Given the description of an element on the screen output the (x, y) to click on. 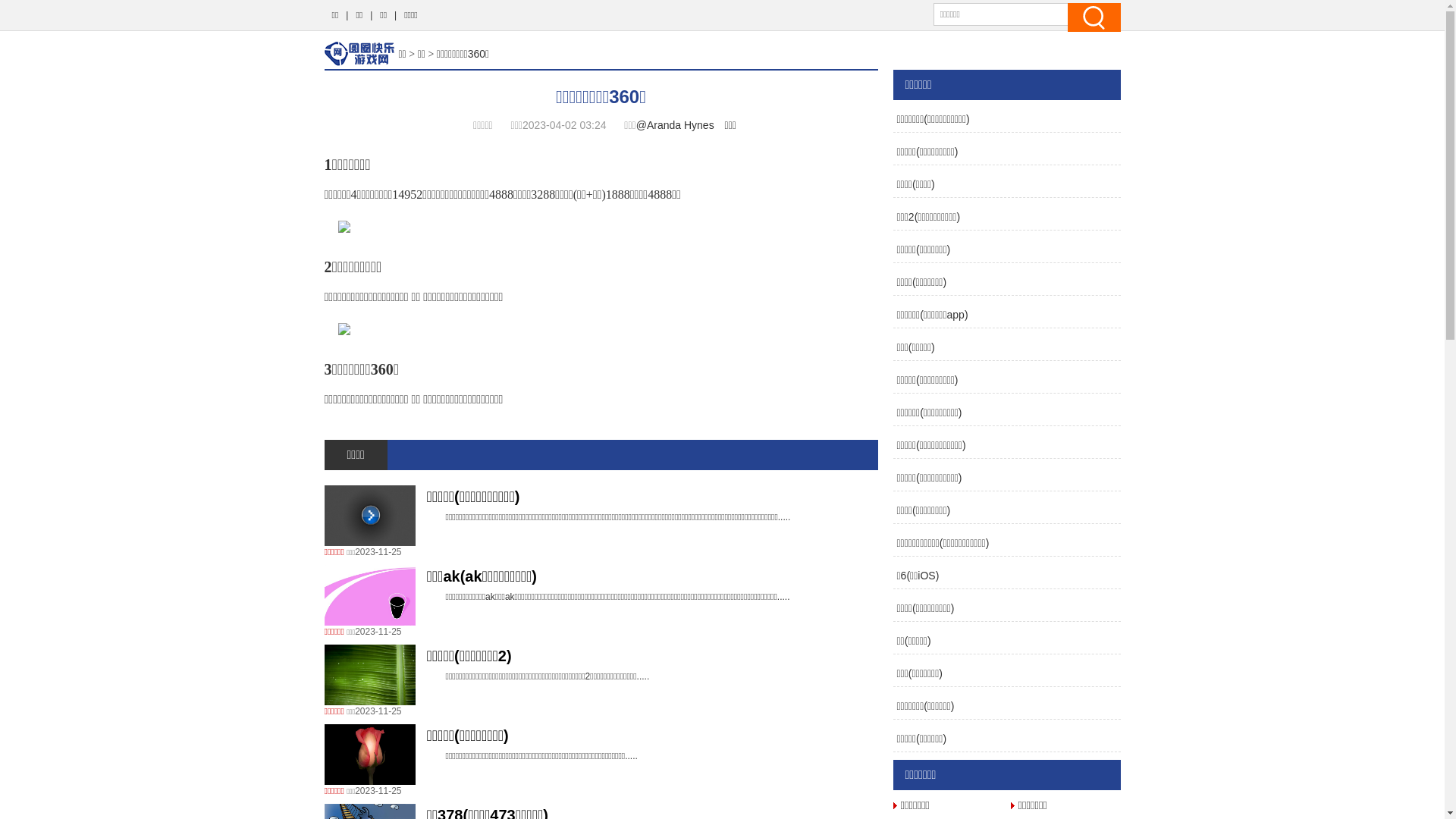
@Aranda Hynes Element type: text (675, 125)
